Given the description of an element on the screen output the (x, y) to click on. 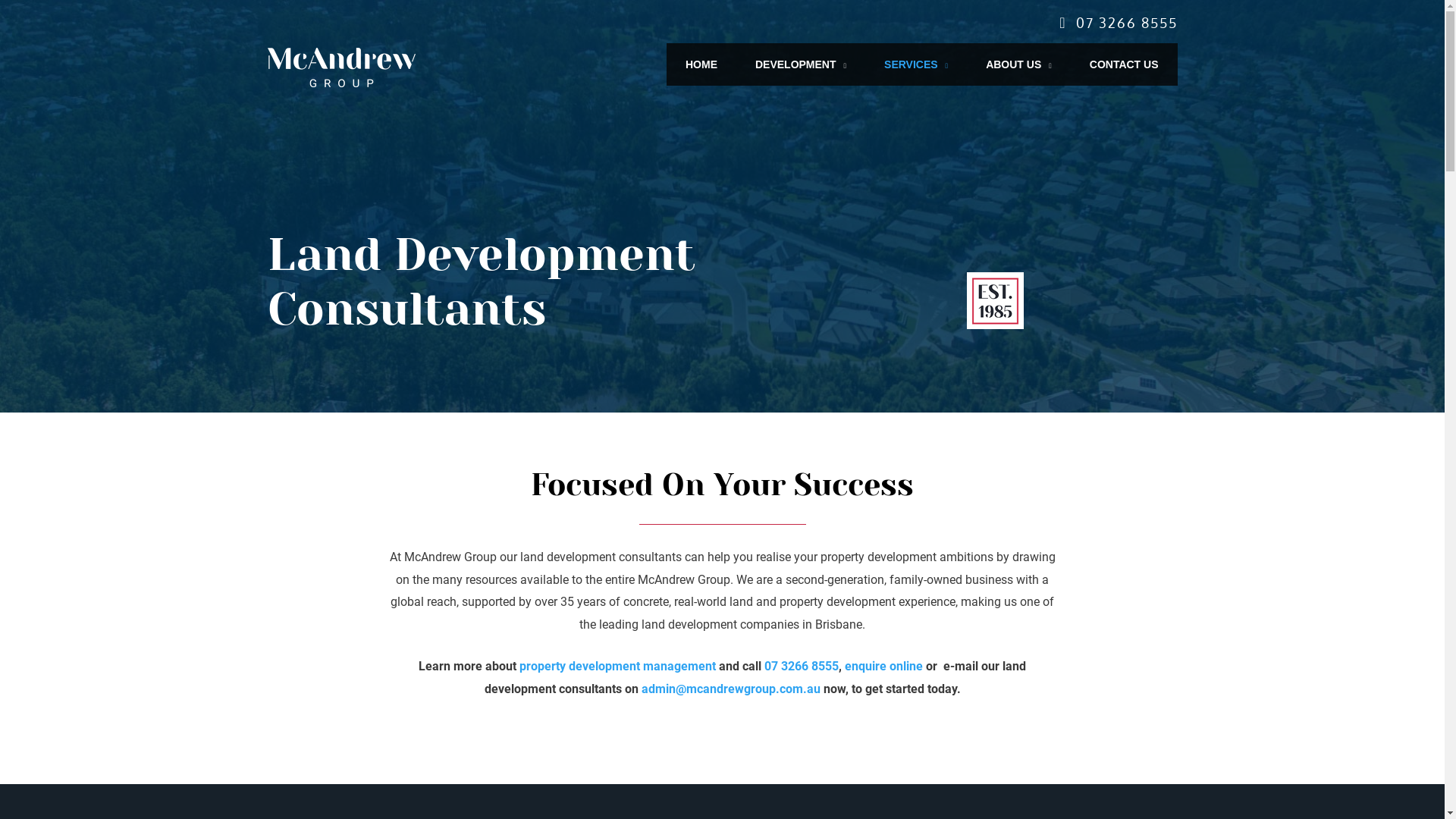
SERVICES Element type: text (915, 64)
ABOUT US Element type: text (1018, 64)
admin@mcandrewgroup.com.au Element type: text (730, 688)
07 3266 8555 Element type: text (801, 665)
property development management Element type: text (617, 665)
CONTACT US Element type: text (1123, 64)
enquire online Element type: text (883, 665)
HOME Element type: text (701, 64)
07 3266 8555 Element type: text (1125, 22)
DEVELOPMENT Element type: text (800, 64)
